Given the description of an element on the screen output the (x, y) to click on. 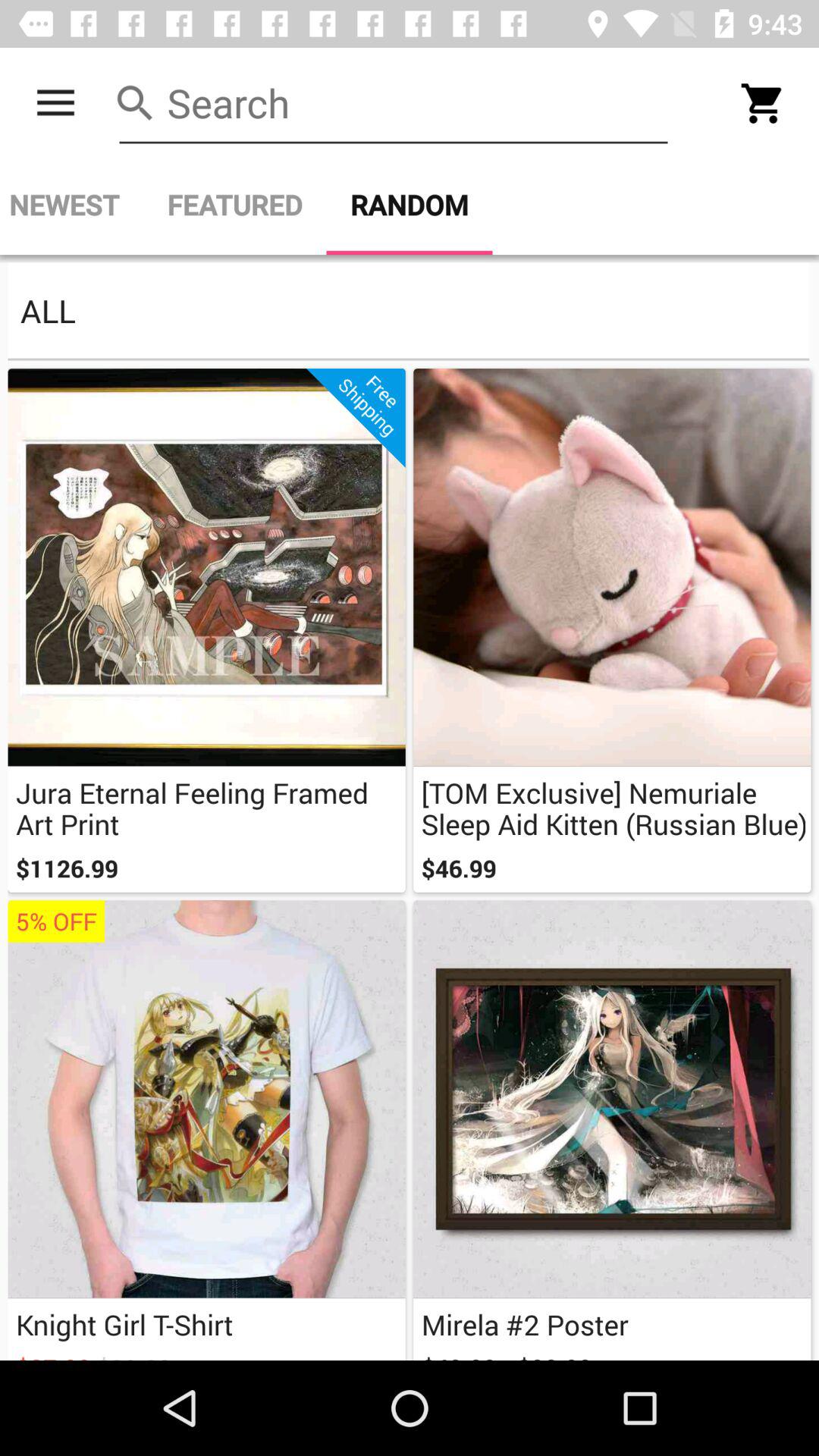
open the newest item (71, 204)
